Given the description of an element on the screen output the (x, y) to click on. 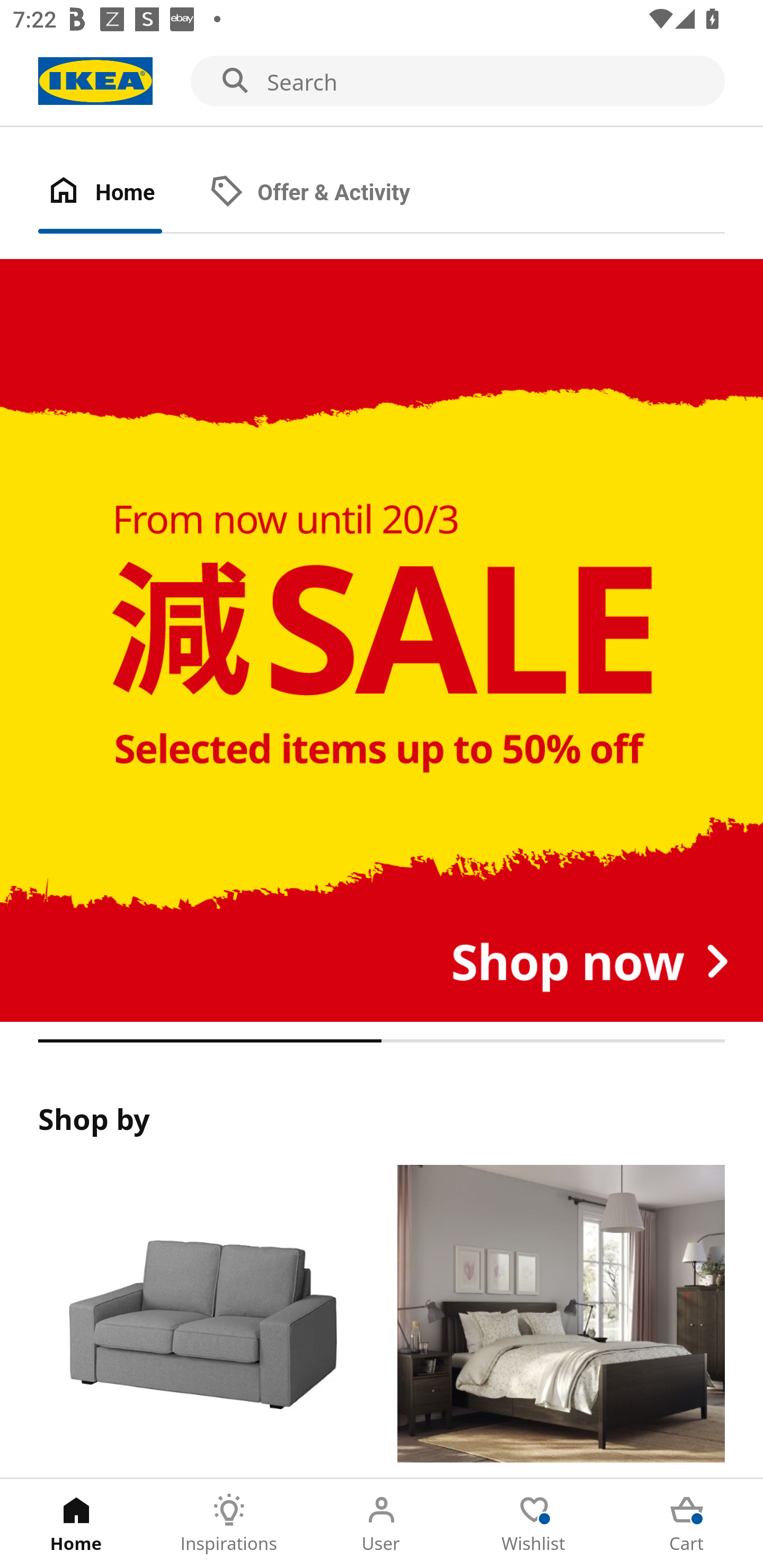
Search (381, 81)
Home
Tab 1 of 2 (118, 192)
Offer & Activity
Tab 2 of 2 (327, 192)
Products (201, 1321)
Rooms (560, 1321)
Home
Tab 1 of 5 (76, 1522)
Inspirations
Tab 2 of 5 (228, 1522)
User
Tab 3 of 5 (381, 1522)
Wishlist
Tab 4 of 5 (533, 1522)
Cart
Tab 5 of 5 (686, 1522)
